Given the description of an element on the screen output the (x, y) to click on. 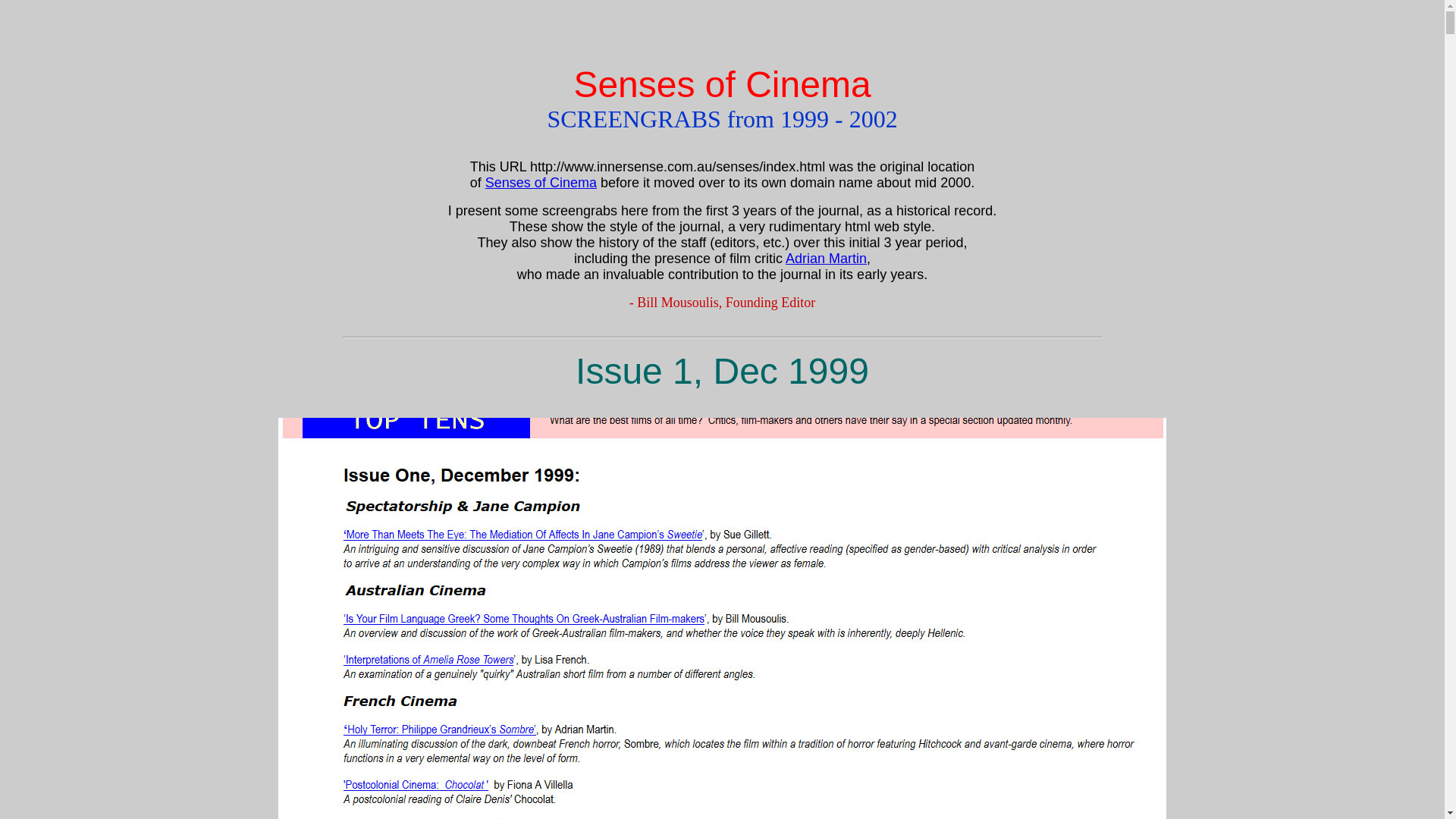
Adrian Martin Element type: text (825, 258)
Senses of Cinema Element type: text (540, 182)
